Given the description of an element on the screen output the (x, y) to click on. 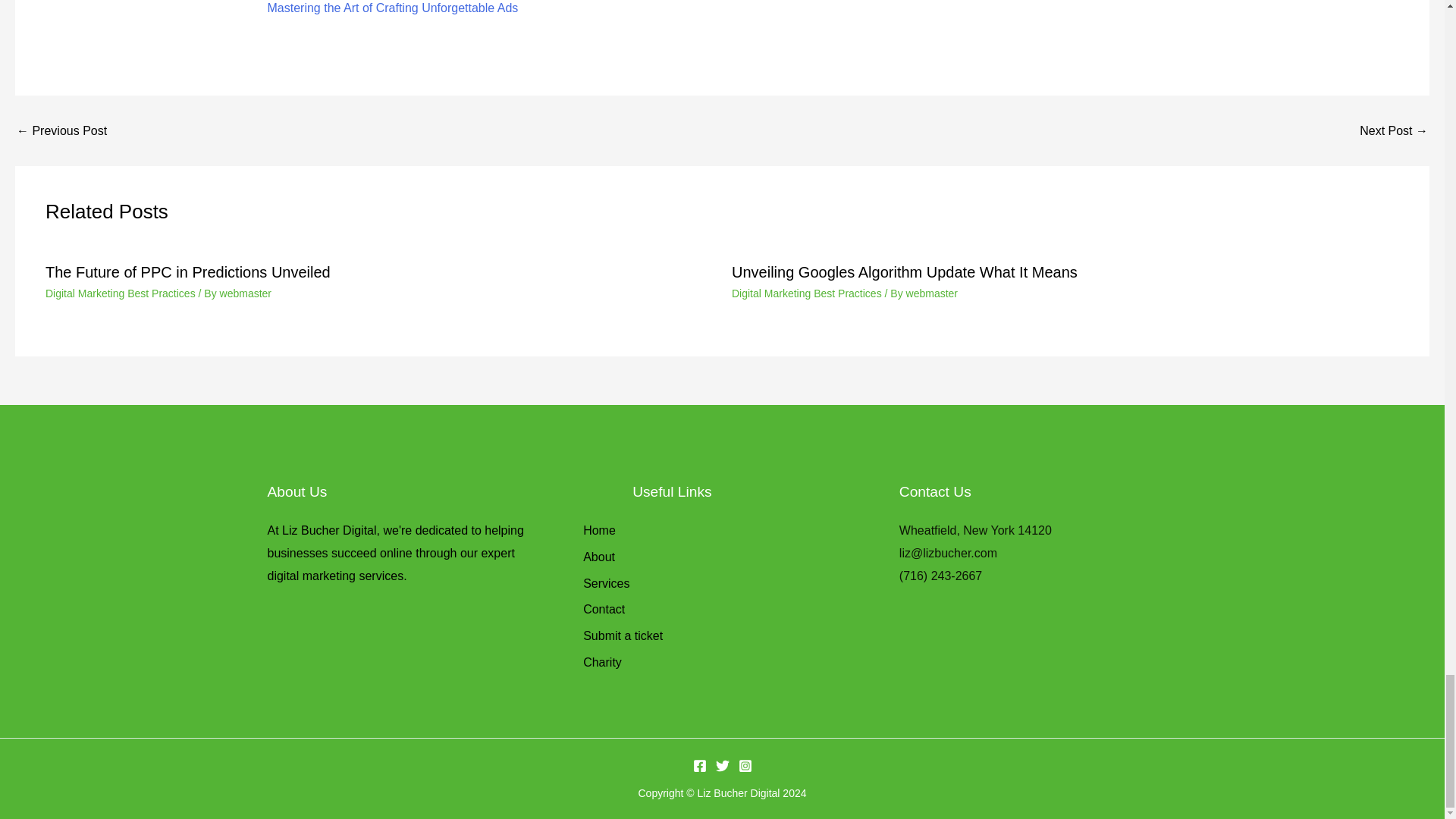
Digital Marketing Best Practices (807, 293)
Unveiling Googles Algorithm Update What It Means (904, 271)
The Future of PPC in Predictions Unveiled (187, 271)
Affordable SEO Services Boost Your Online Presence (1393, 131)
About (598, 559)
View all posts by webmaster (244, 293)
Digital Marketing Best Practices (120, 293)
Mastering the Art of Crafting Unforgettable Ads (61, 131)
webmaster (931, 293)
webmaster (244, 293)
Home (599, 532)
View all posts by webmaster (931, 293)
Mastering the Art of Crafting Unforgettable Ads (392, 7)
